Given the description of an element on the screen output the (x, y) to click on. 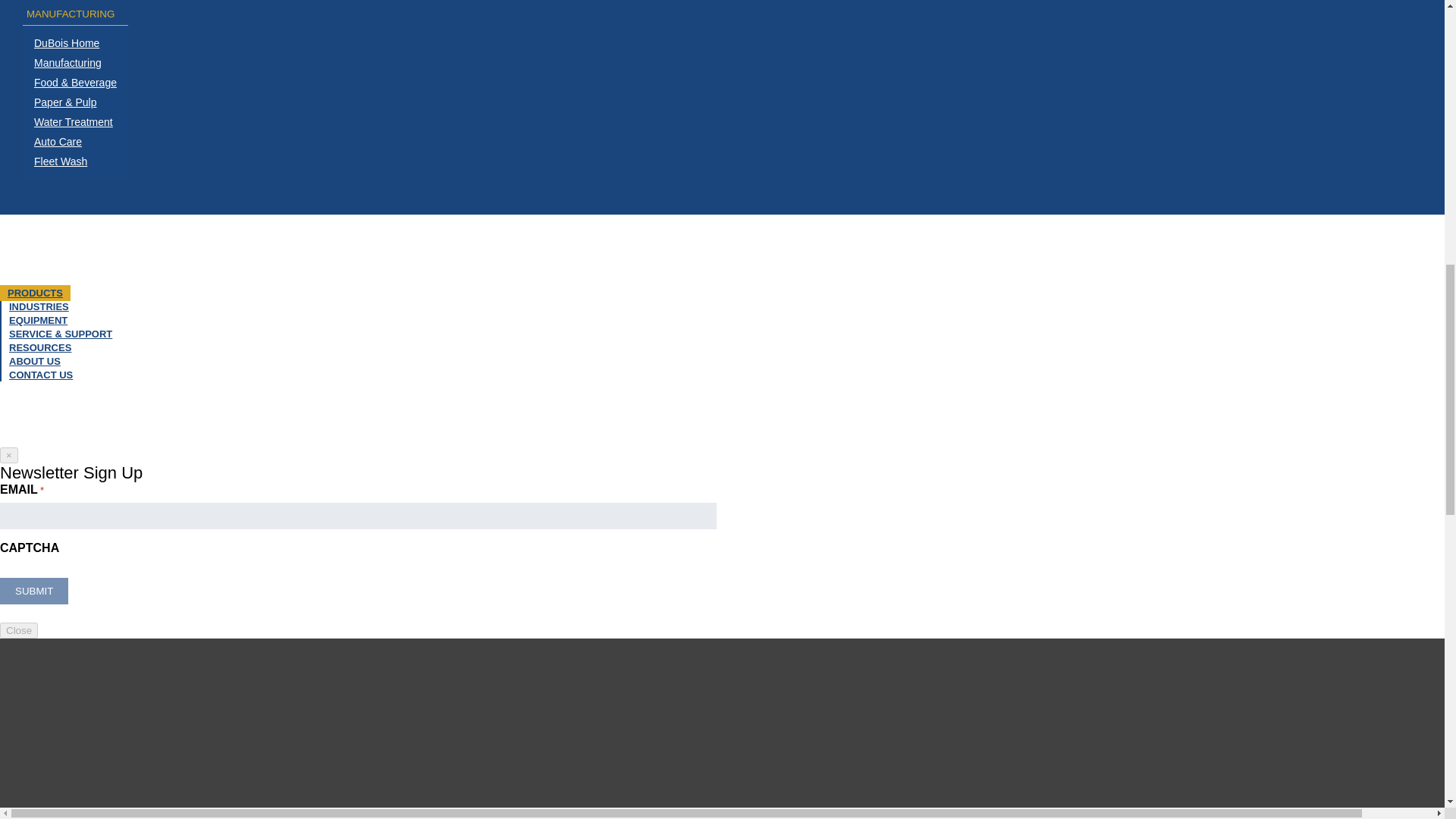
Submit (34, 591)
